Given the description of an element on the screen output the (x, y) to click on. 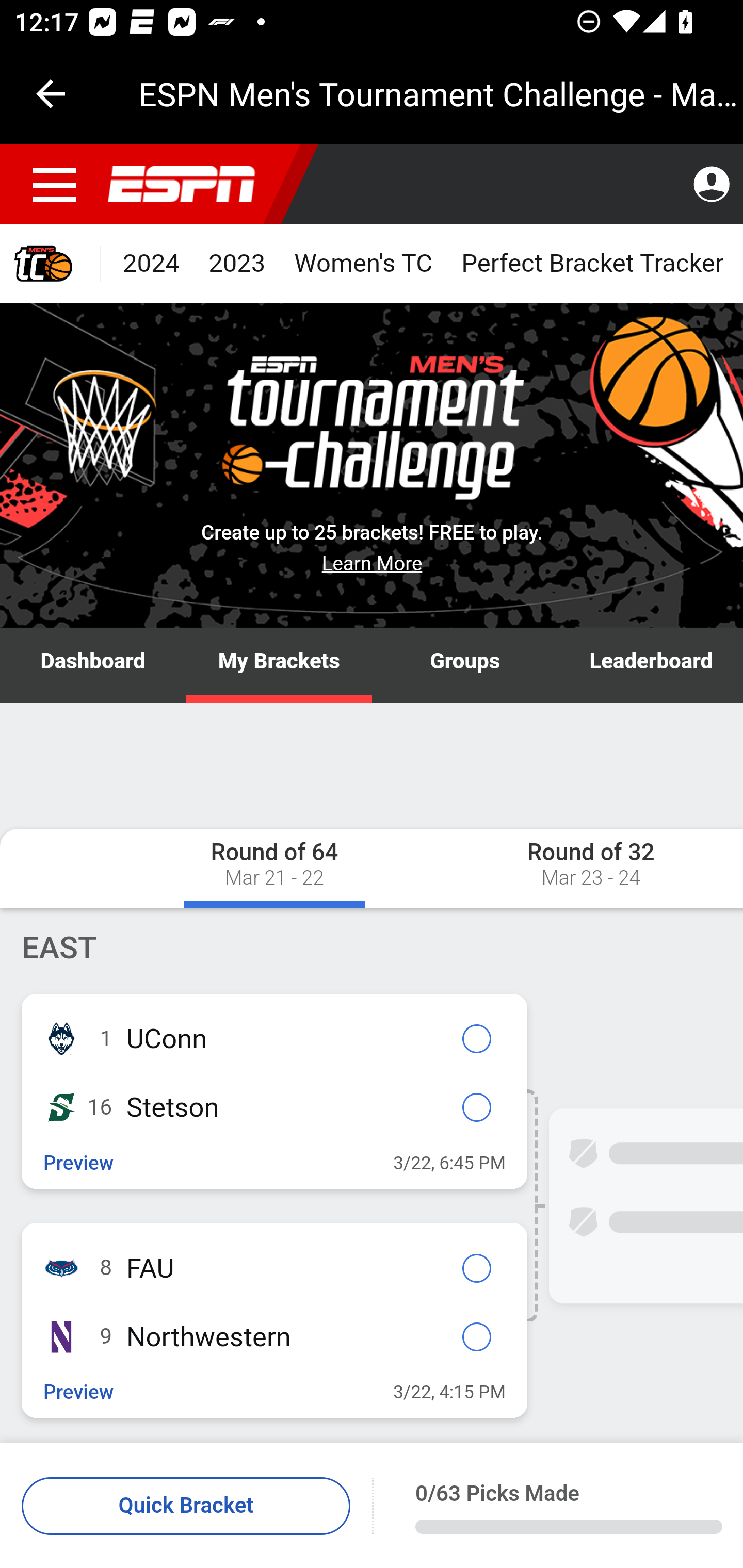
Navigate up (50, 93)
Menu (54, 184)
nav.arialabel.homepage (182, 184)
Profile Management (711, 184)
tournament-challenge-bracket-2024 (51, 264)
2024 (151, 264)
2023 (237, 264)
Women's TC (362, 264)
Perfect Bracket Tracker (591, 264)
Learn More (372, 563)
Dashboard Dashboard Dashboard (93, 666)
My Brackets My Brackets My Brackets (278, 666)
Groups Groups Groups (465, 666)
Leaderboard Leaderboard Leaderboard (649, 666)
Round of 64 Mar 21 - 22 (274, 867)
Round of 32 Mar 23 - 24 (540, 867)
Preview (79, 1163)
Preview (79, 1392)
Quick Bracket (186, 1506)
